Given the description of an element on the screen output the (x, y) to click on. 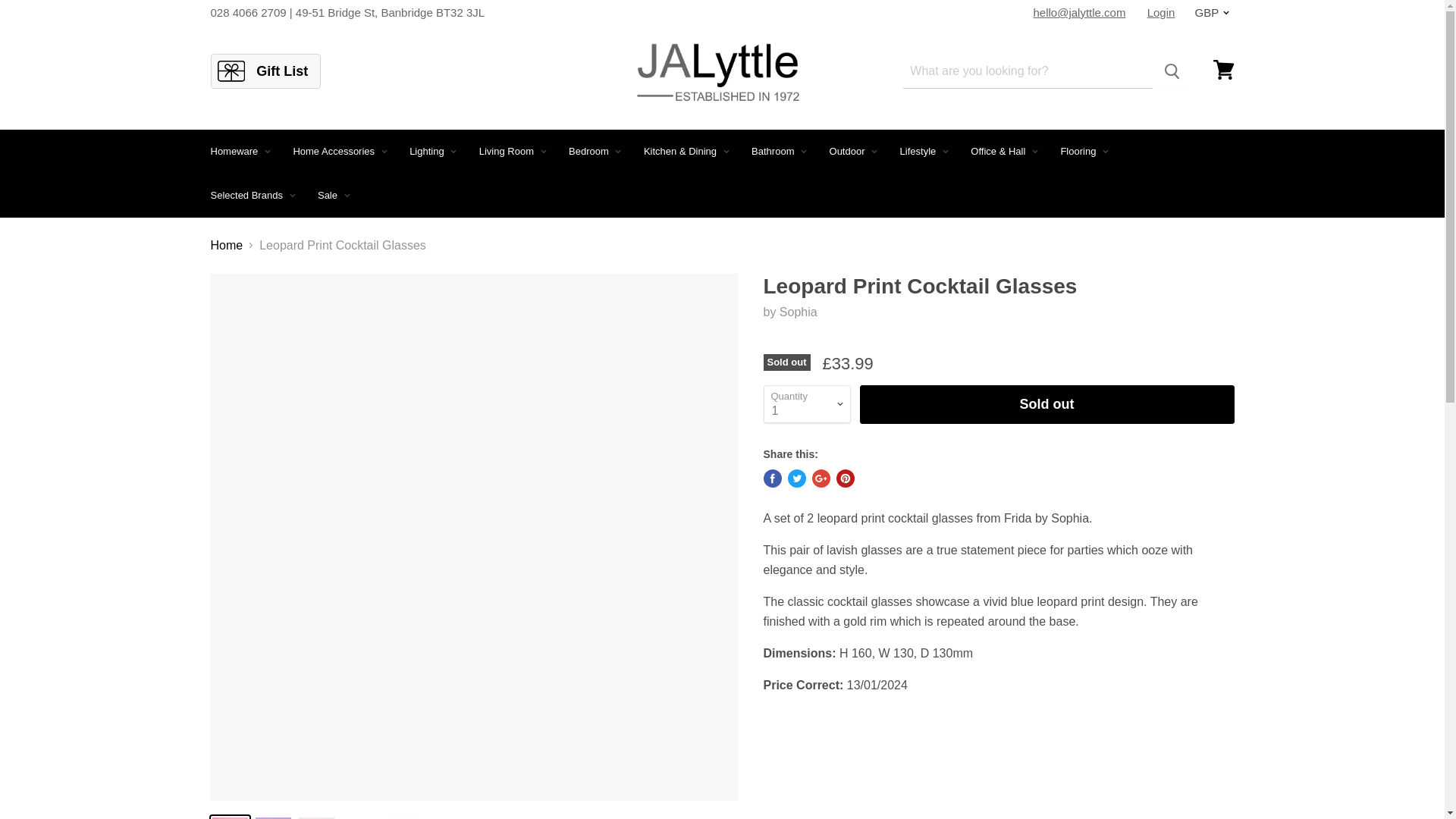
Homeware (238, 151)
Login (1161, 11)
Gift List (265, 71)
View cart (1223, 69)
